Given the description of an element on the screen output the (x, y) to click on. 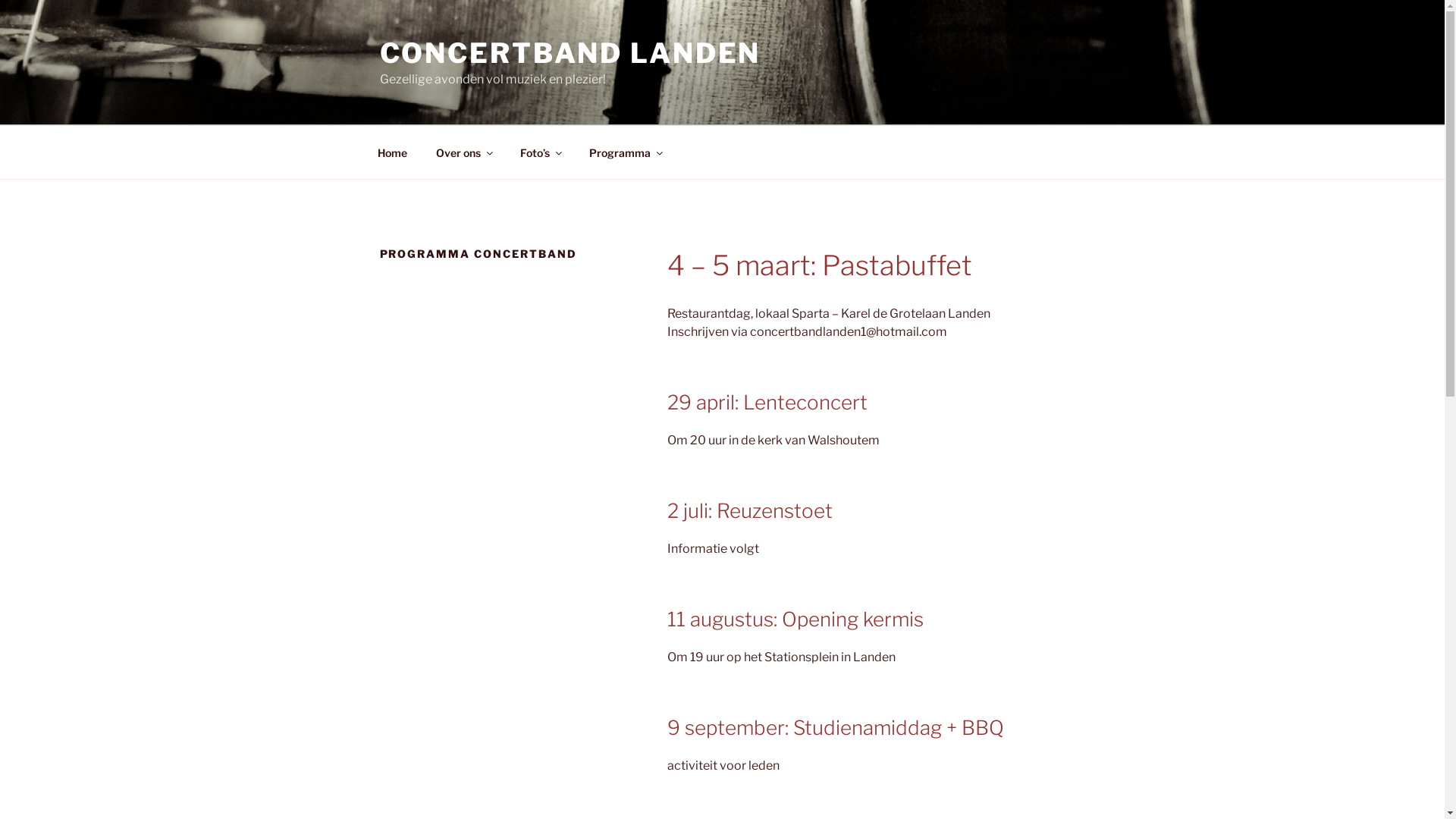
Over ons Element type: text (464, 151)
Home Element type: text (392, 151)
CONCERTBAND LANDEN Element type: text (569, 52)
Programma Element type: text (625, 151)
Naar de inhoud springen Element type: text (0, 0)
